Given the description of an element on the screen output the (x, y) to click on. 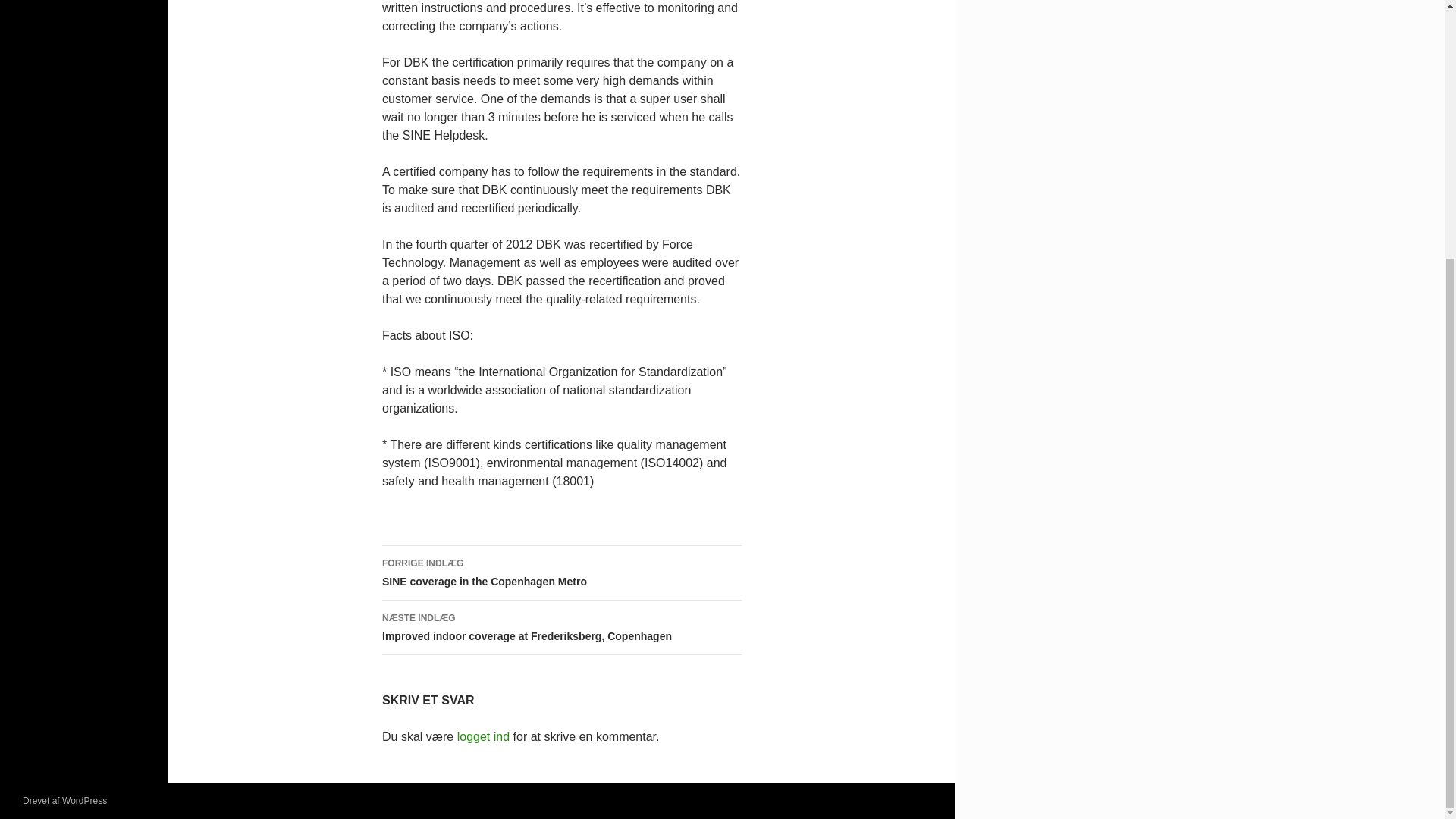
logget ind (483, 736)
Drevet af WordPress (64, 800)
